Given the description of an element on the screen output the (x, y) to click on. 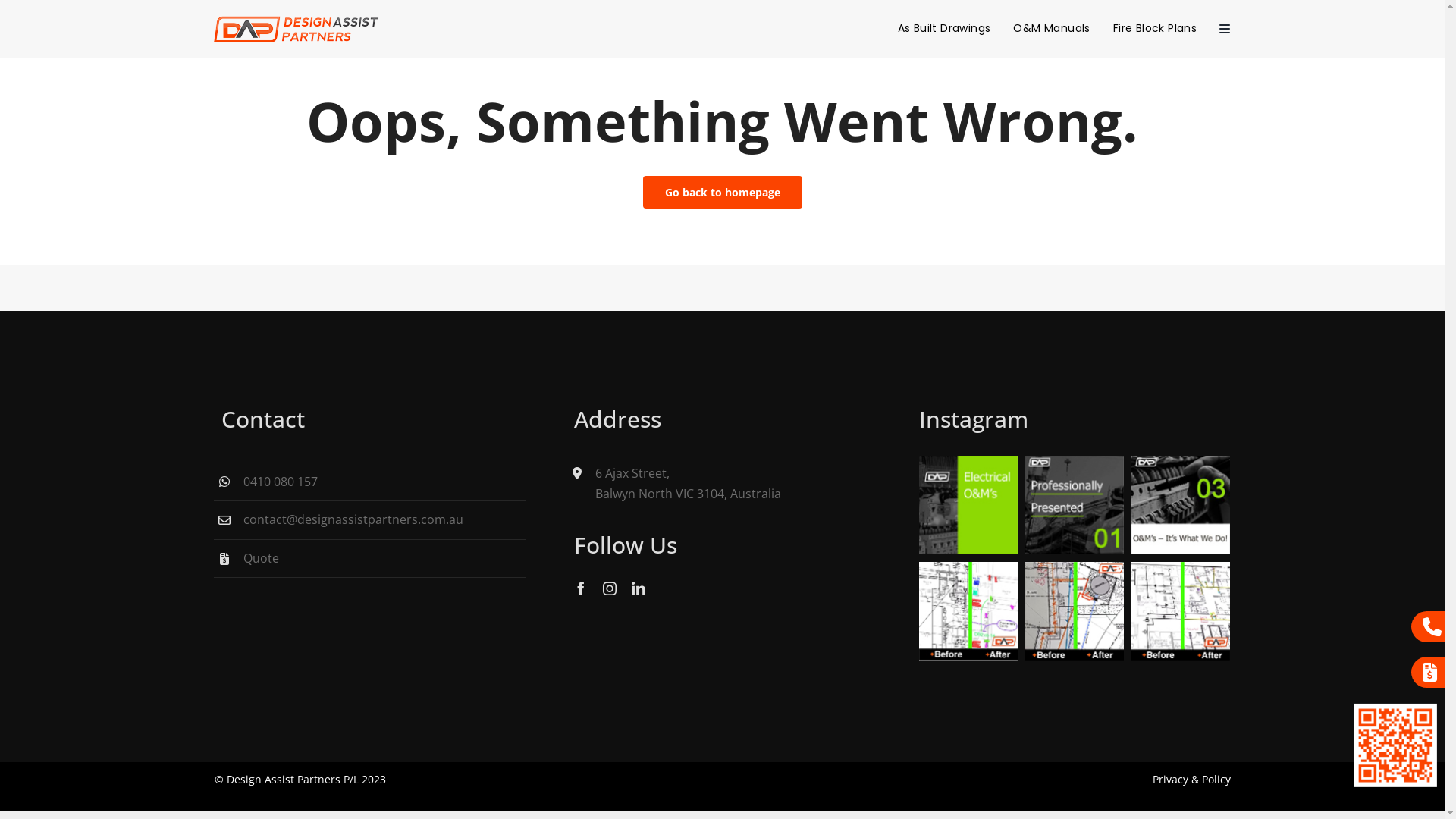
Electrical O&M 1 Element type: hover (968, 504)
Elelctrical O&M 3 Element type: hover (1180, 504)
As Built Drawings Element type: text (944, 28)
Fire Block Plans Element type: text (1154, 28)
contact@designassistpartners.com.au Element type: text (353, 519)
Quote Element type: text (261, 557)
O&M Manuals Element type: text (1051, 28)
Privacy & Policy Element type: text (1191, 778)
Electrical O&M 2 Element type: hover (1074, 504)
0410 080 157 Element type: text (280, 481)
6 Ajax Street, Element type: text (632, 472)
Go back to homepage Element type: text (722, 191)
